Given the description of an element on the screen output the (x, y) to click on. 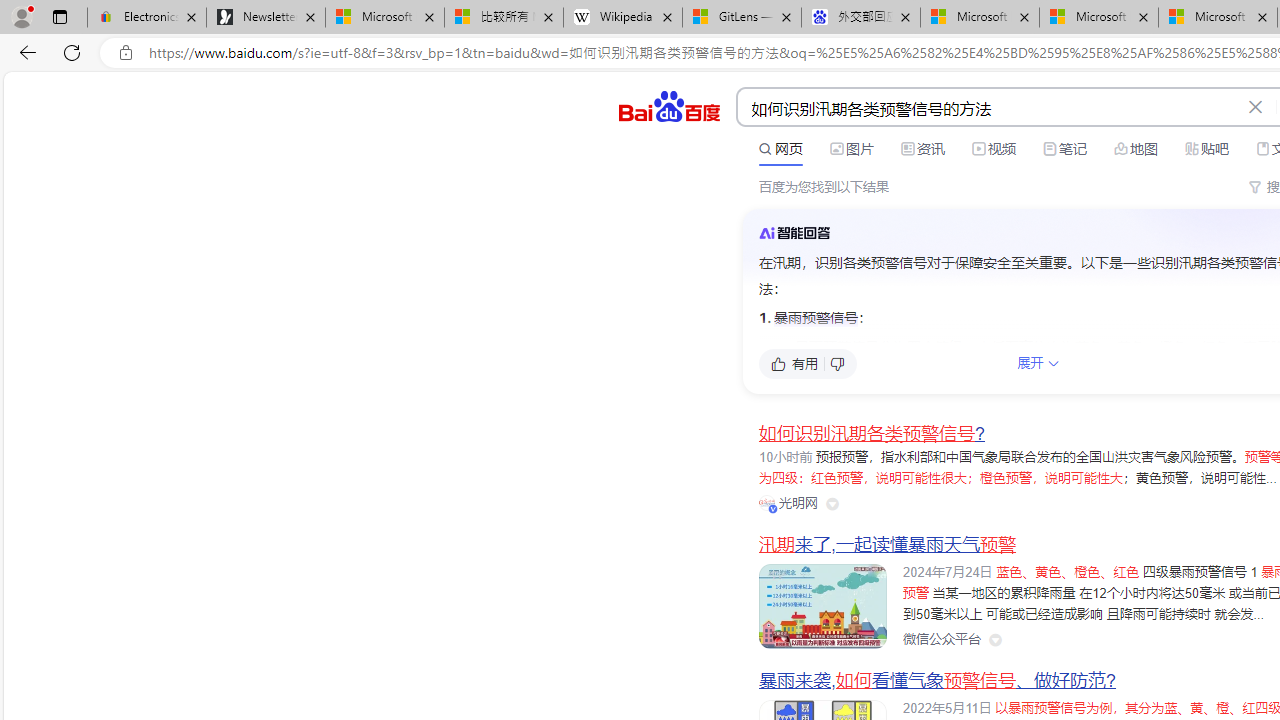
Class: siteLink_9TPP3 (941, 639)
Electronics, Cars, Fashion, Collectibles & More | eBay (147, 17)
Newsletter Sign Up (266, 17)
Class: img-light_7jMUg (794, 232)
Class: vip-icon_kNmNt (773, 508)
Wikipedia (623, 17)
